Given the description of an element on the screen output the (x, y) to click on. 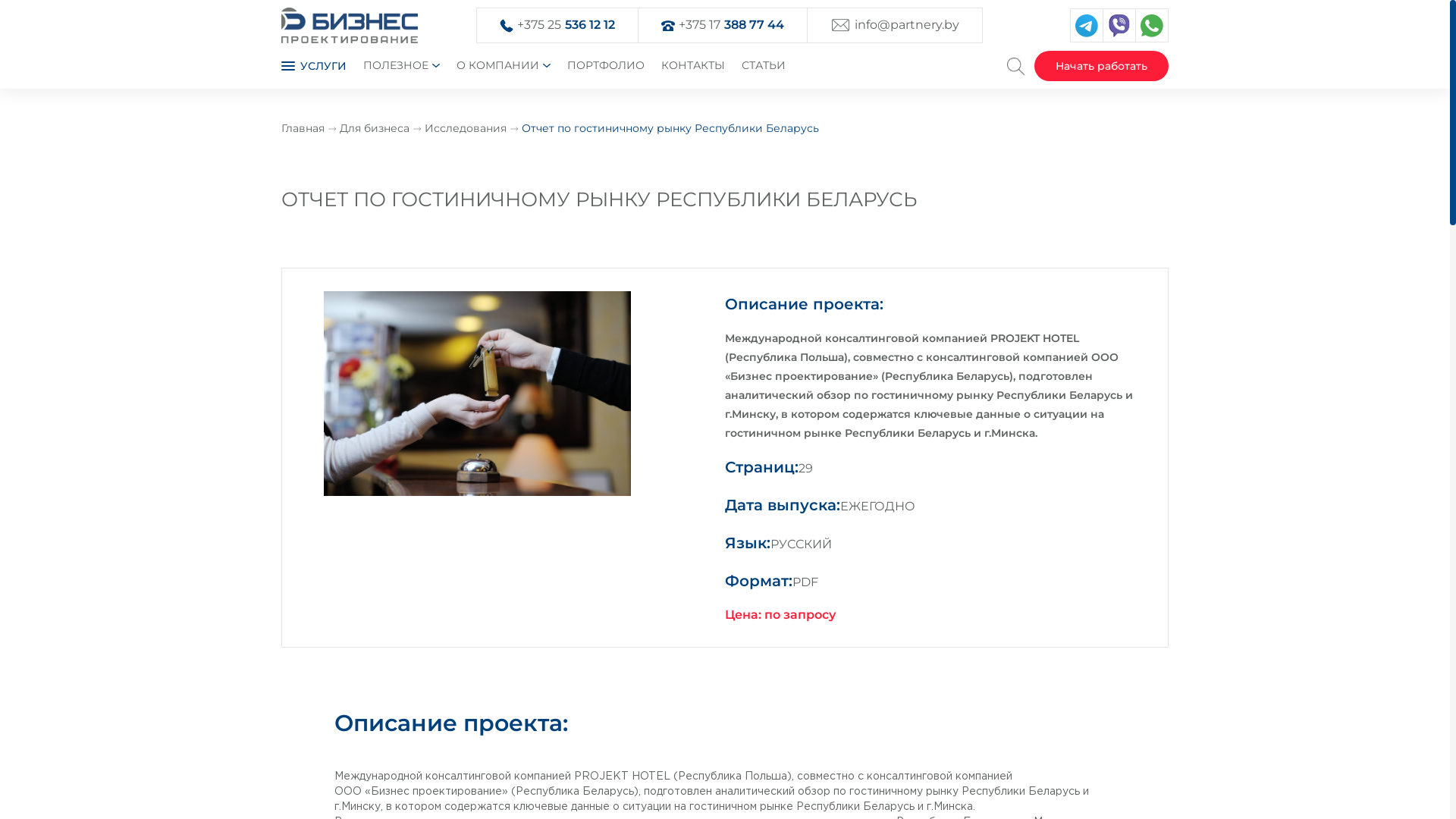
+375 17
388 77 44 Element type: text (731, 24)
+375 25
536 12 12 Element type: text (566, 24)
info@partnery.by Element type: text (906, 25)
